Given the description of an element on the screen output the (x, y) to click on. 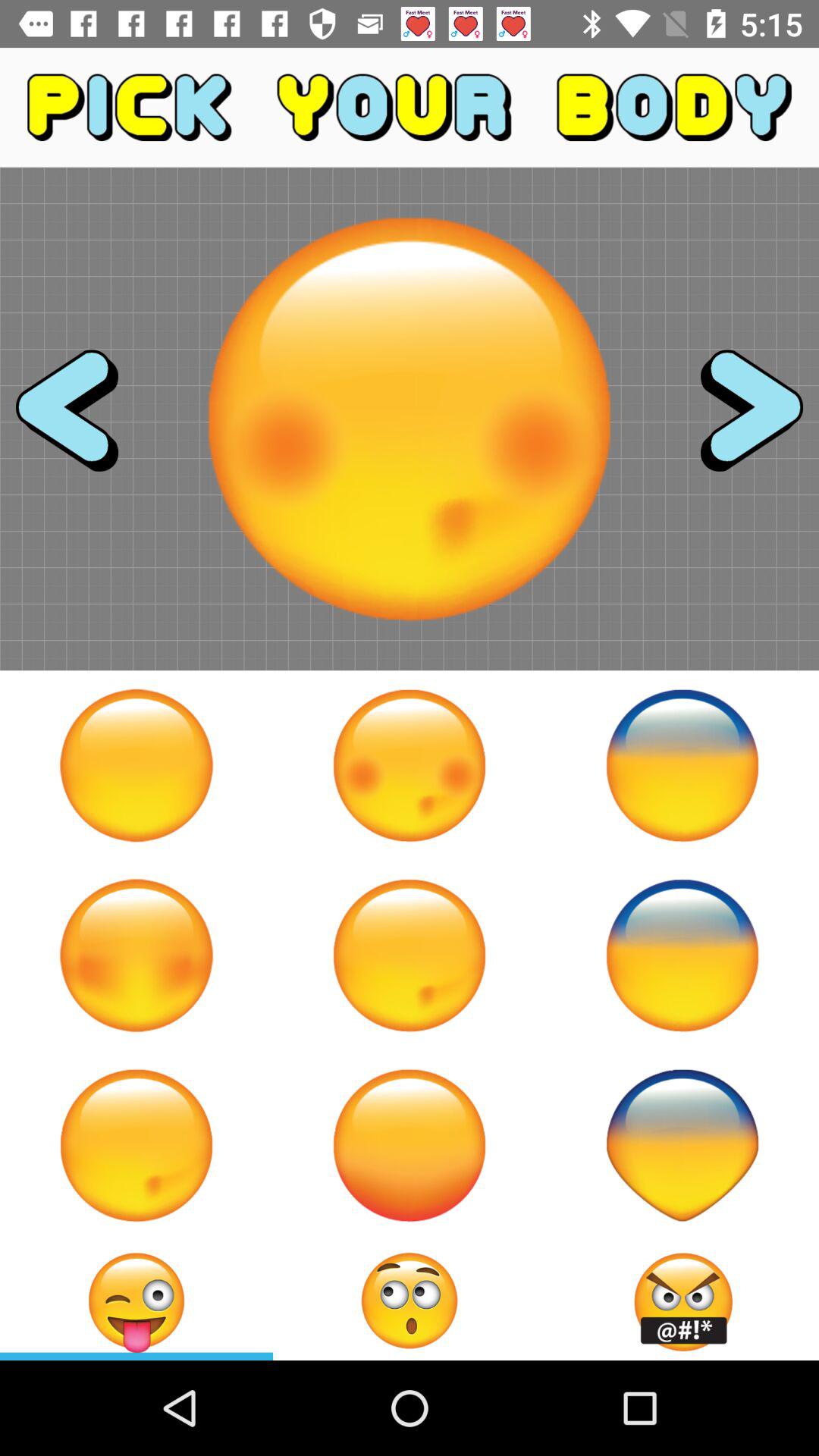
funny video (136, 955)
